Given the description of an element on the screen output the (x, y) to click on. 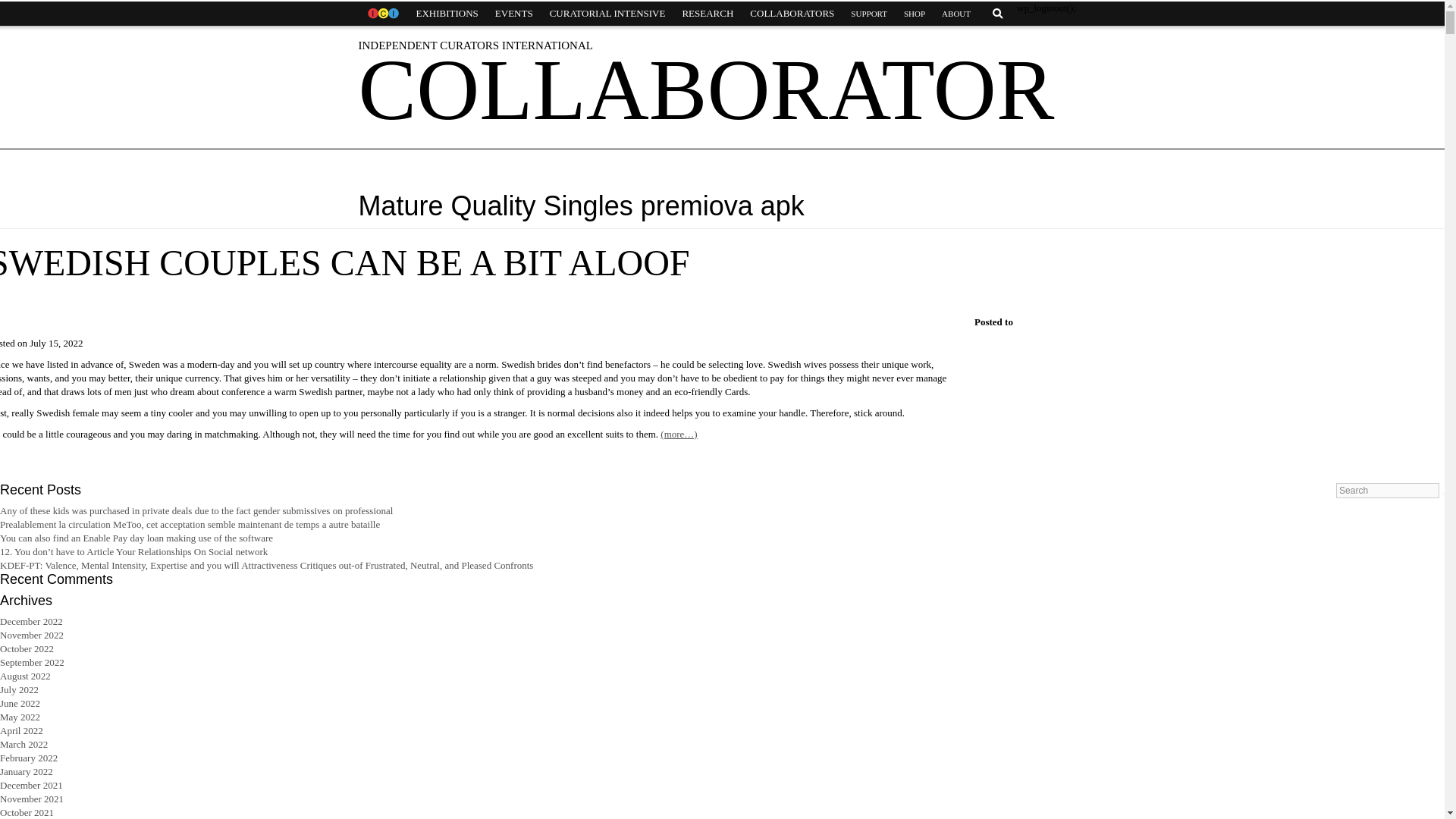
RESEARCH (706, 13)
COLLABORATORS (792, 13)
EXHIBITIONS (446, 13)
EVENTS (513, 13)
HOME (382, 13)
CURATORIAL INTENSIVE (607, 13)
